Given the description of an element on the screen output the (x, y) to click on. 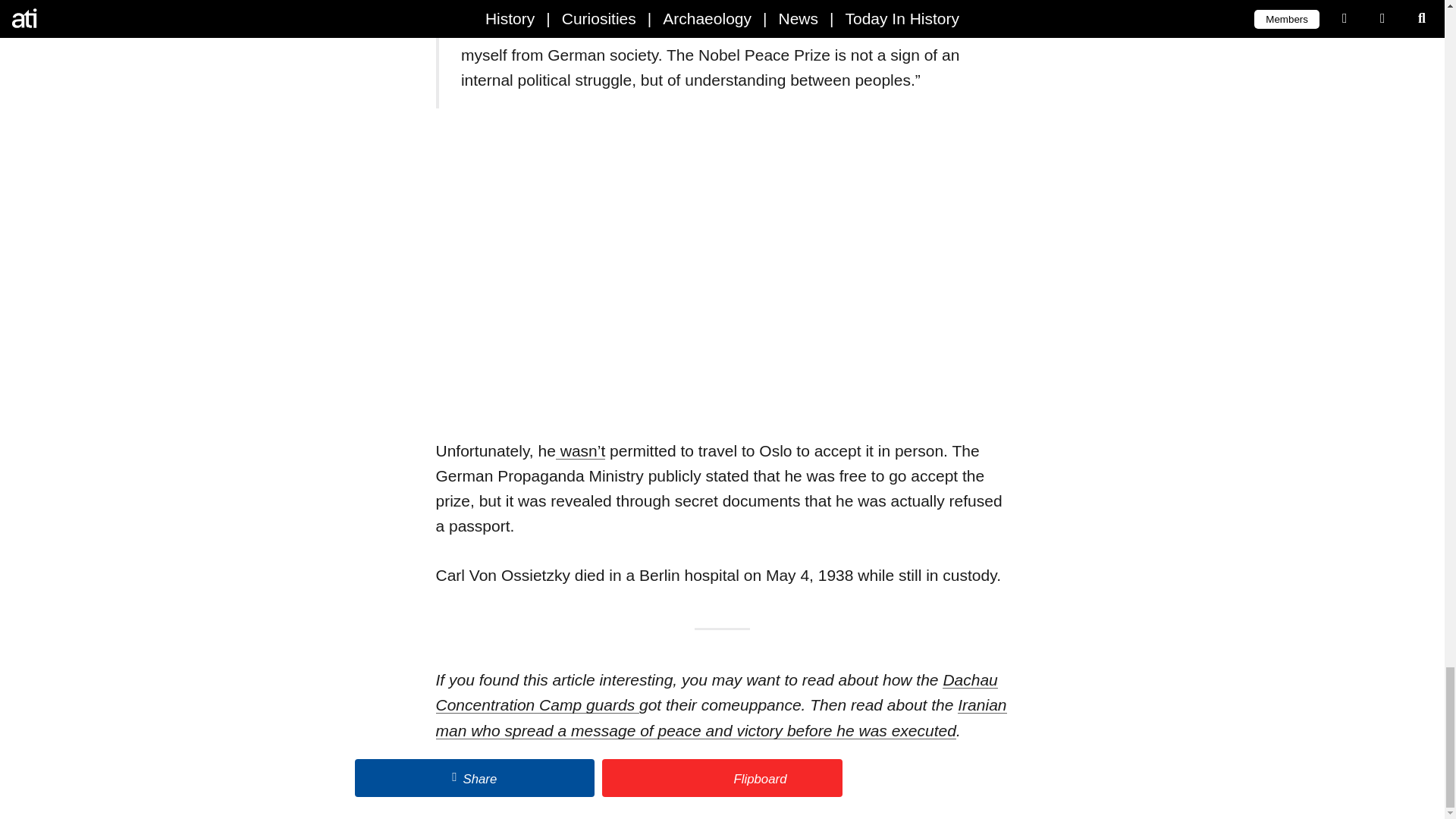
Flipboard (722, 777)
Dachau Concentration Camp guards (716, 691)
Share (475, 777)
